Given the description of an element on the screen output the (x, y) to click on. 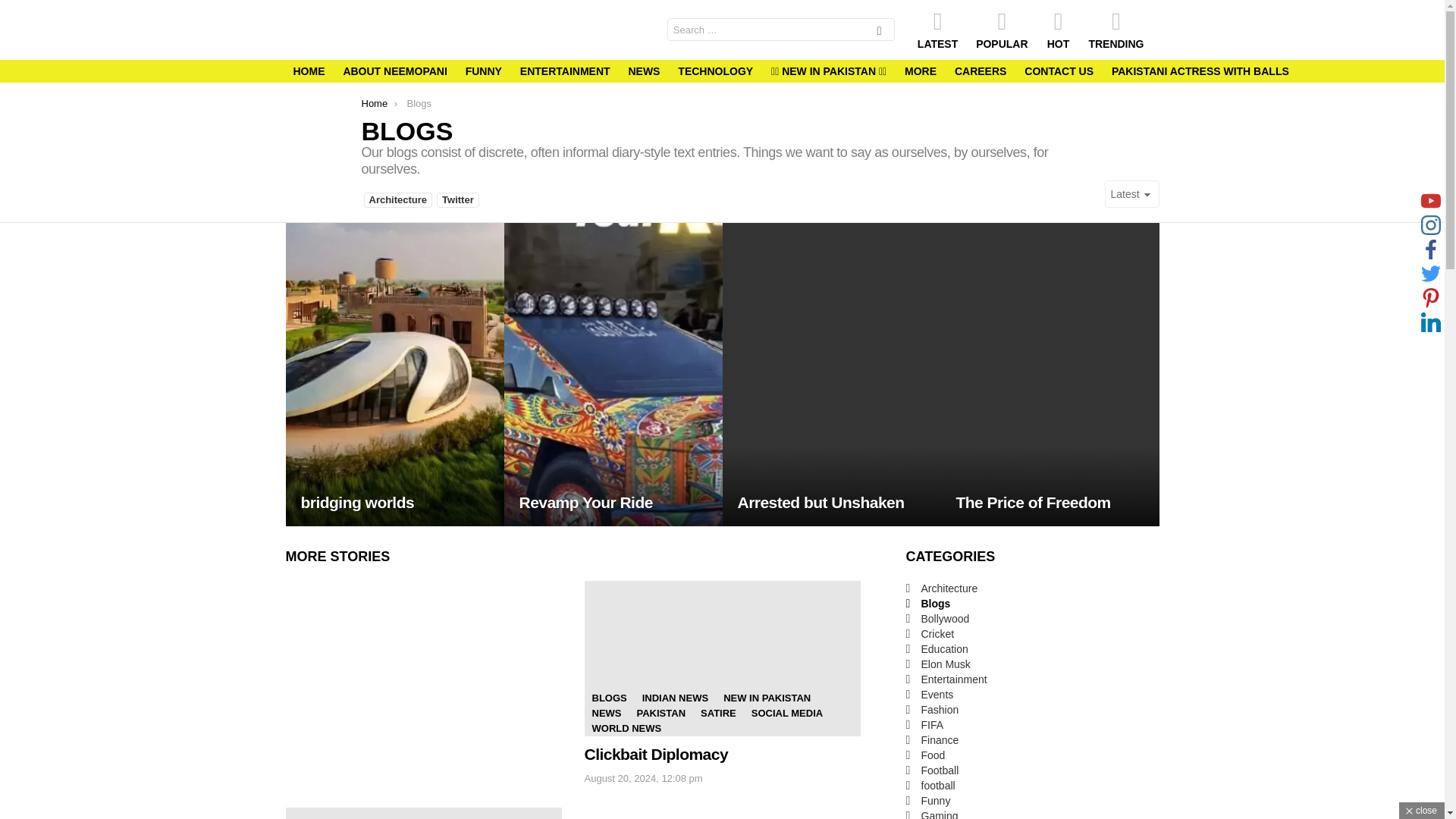
SEARCH (879, 31)
CAREERS (980, 70)
POPULAR (1001, 29)
ENTERTAINMENT (564, 70)
Architecture (398, 200)
BLOGS (608, 698)
INDIAN NEWS (675, 698)
TECHNOLOGY (714, 70)
MORE (919, 70)
